Given the description of an element on the screen output the (x, y) to click on. 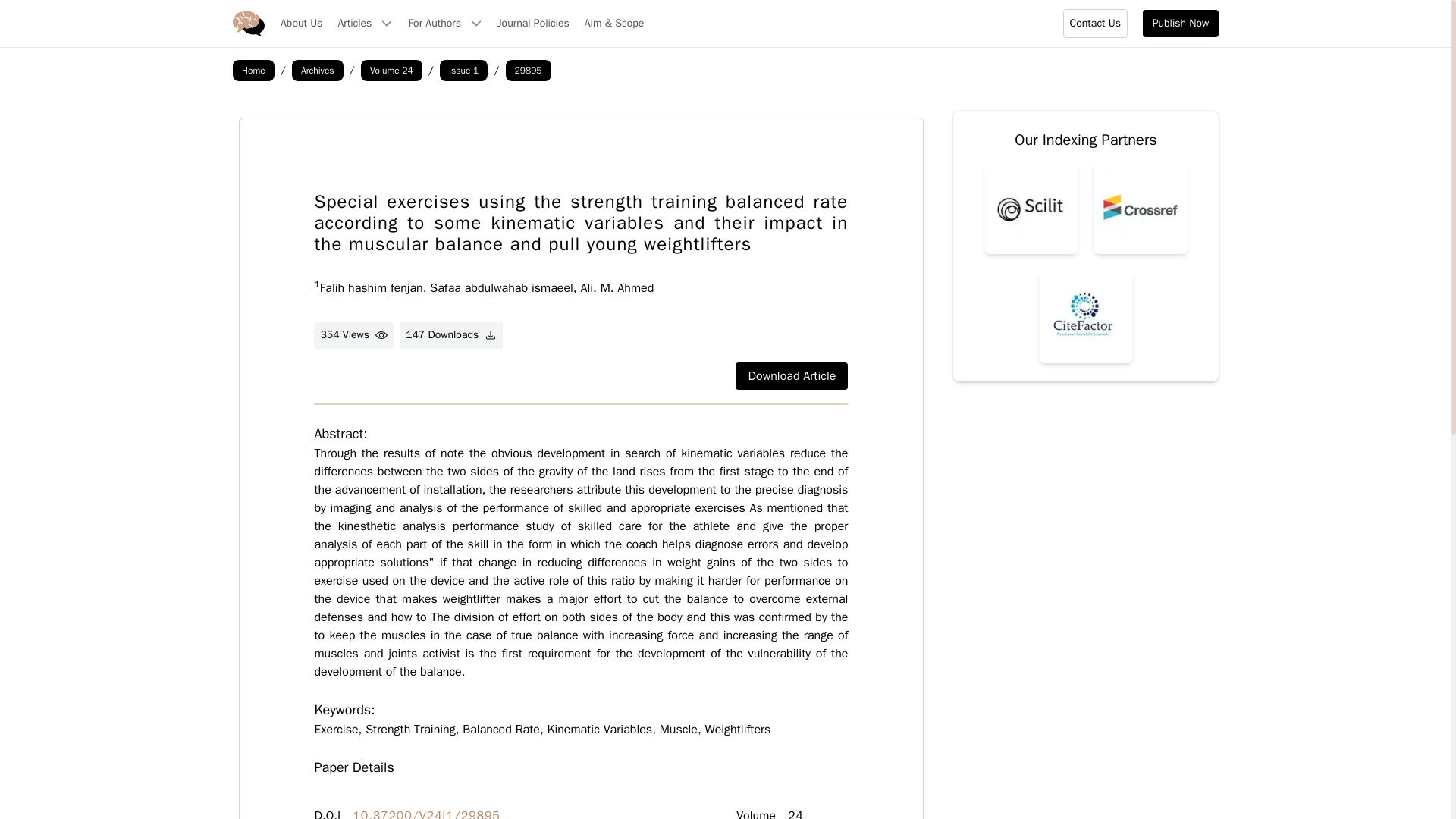
Home (253, 70)
29895 (528, 70)
Volume 24 (391, 70)
Contact Us (1094, 23)
Download Article (791, 375)
About Us (301, 23)
Journal Policies (533, 23)
Publish Now (1180, 22)
Archives (317, 70)
Issue 1 (463, 70)
